Given the description of an element on the screen output the (x, y) to click on. 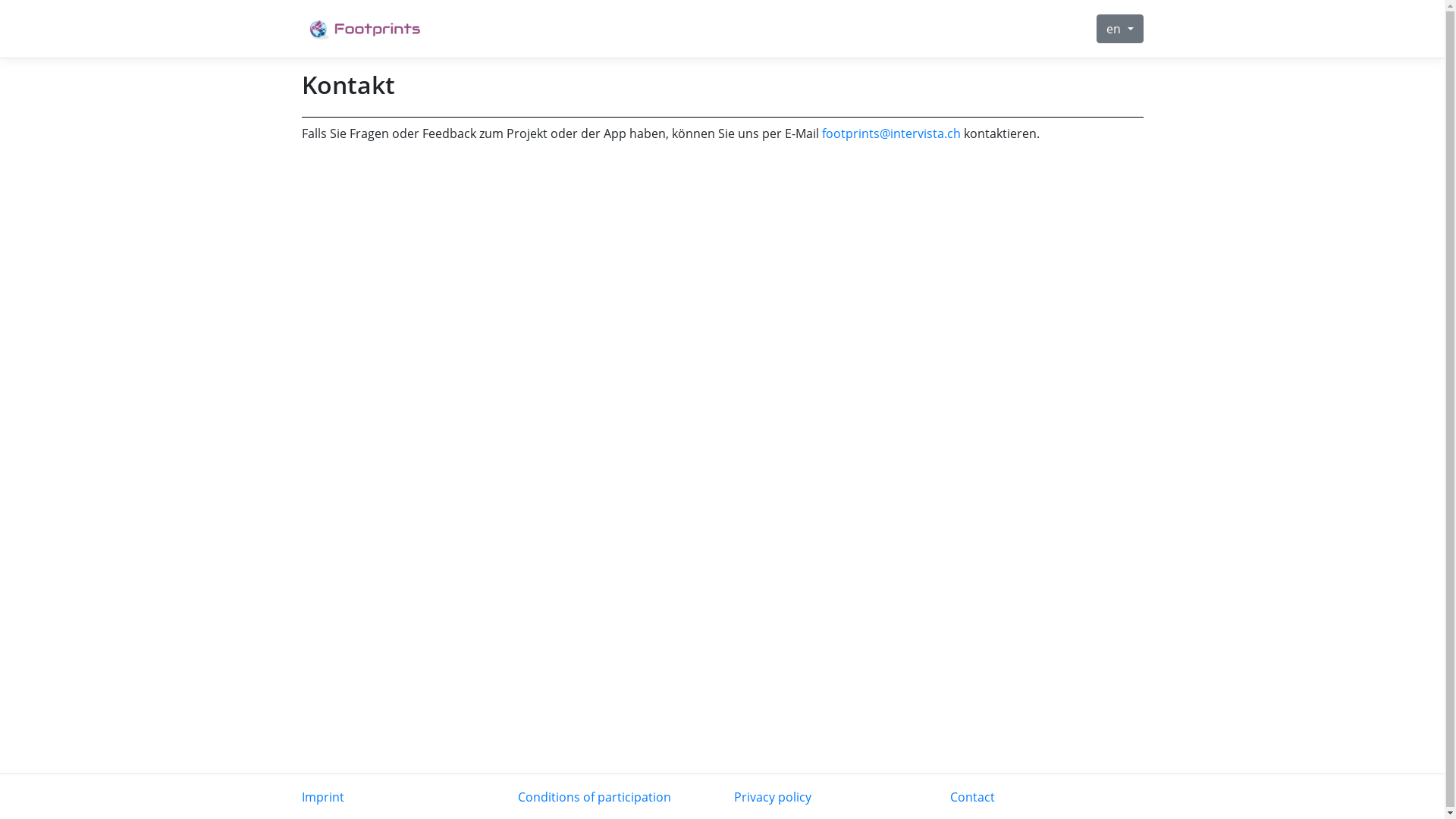
Contact Element type: text (971, 796)
Conditions of participation Element type: text (593, 796)
Imprint Element type: text (322, 796)
en Element type: text (1119, 28)
footprints@intervista.ch Element type: text (891, 133)
Privacy policy Element type: text (772, 796)
